Given the description of an element on the screen output the (x, y) to click on. 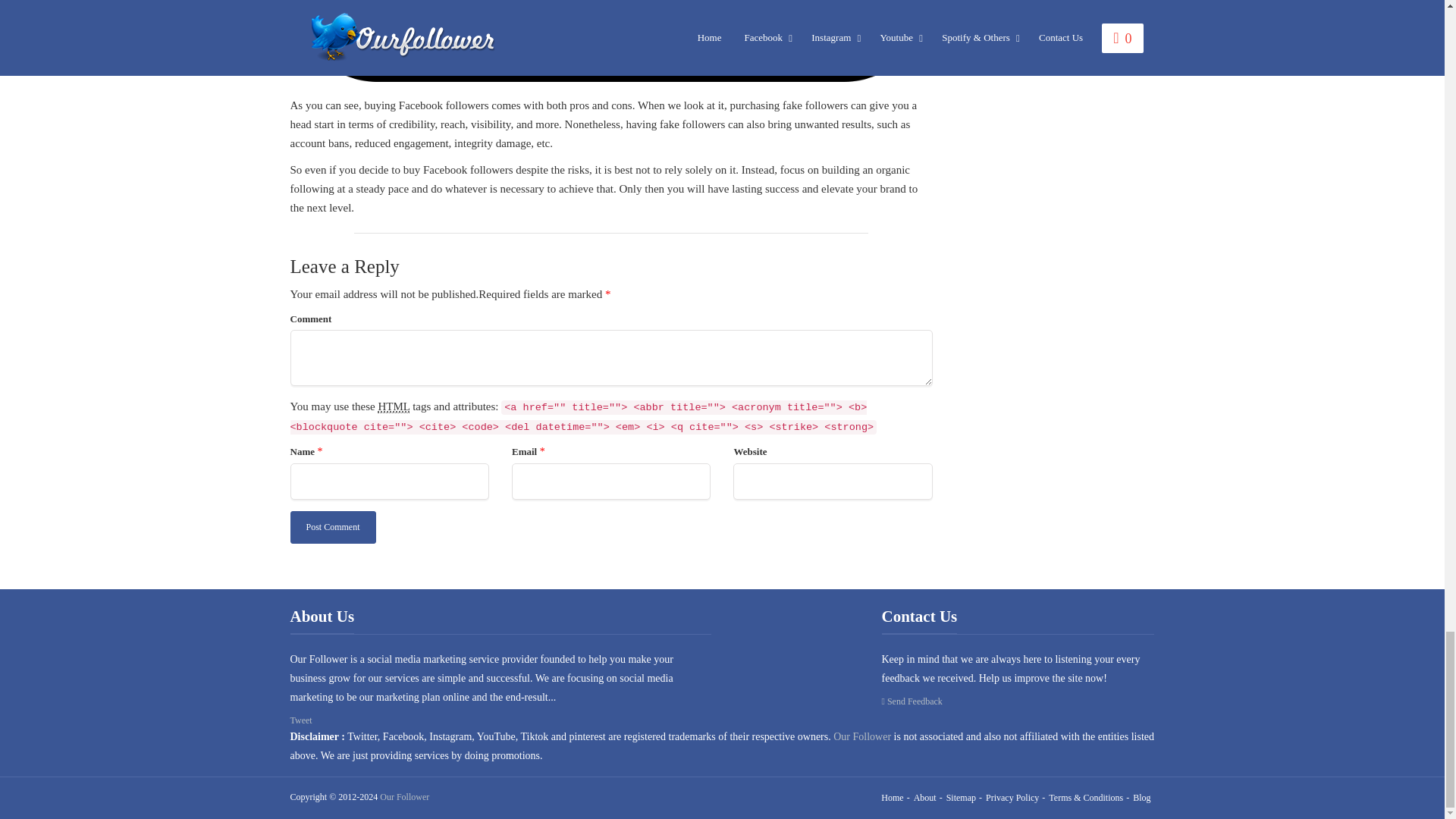
Post Comment (332, 527)
HyperText Markup Language (393, 406)
Post Comment (332, 527)
